Given the description of an element on the screen output the (x, y) to click on. 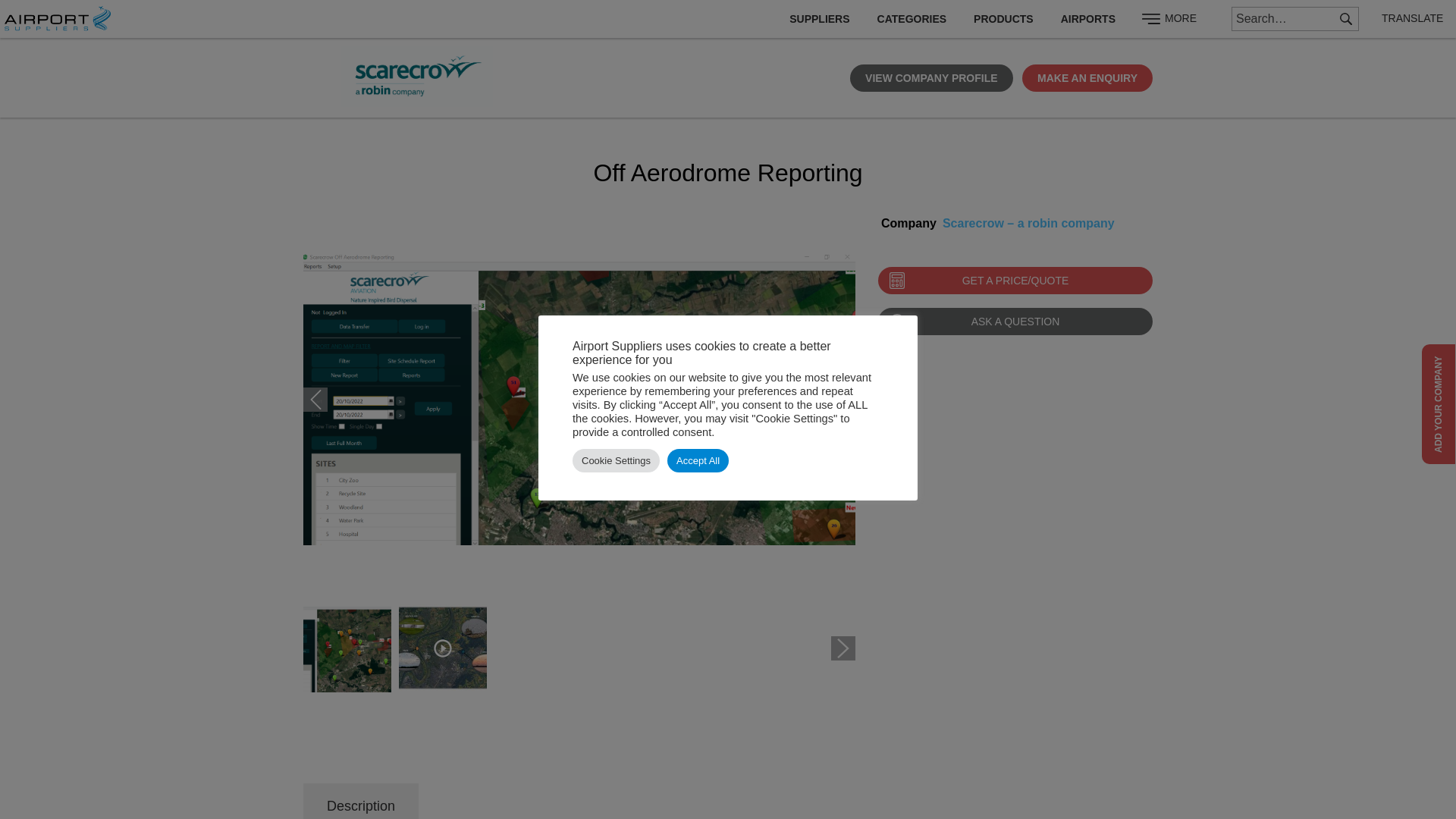
MAKE AN ENQUIRY (1087, 76)
PRODUCTS (1002, 18)
AIRPORTS (1087, 18)
SUPPLIERS (819, 18)
CATEGORIES (911, 18)
VIEW COMPANY PROFILE (931, 76)
ASK A QUESTION (1015, 320)
